Given the description of an element on the screen output the (x, y) to click on. 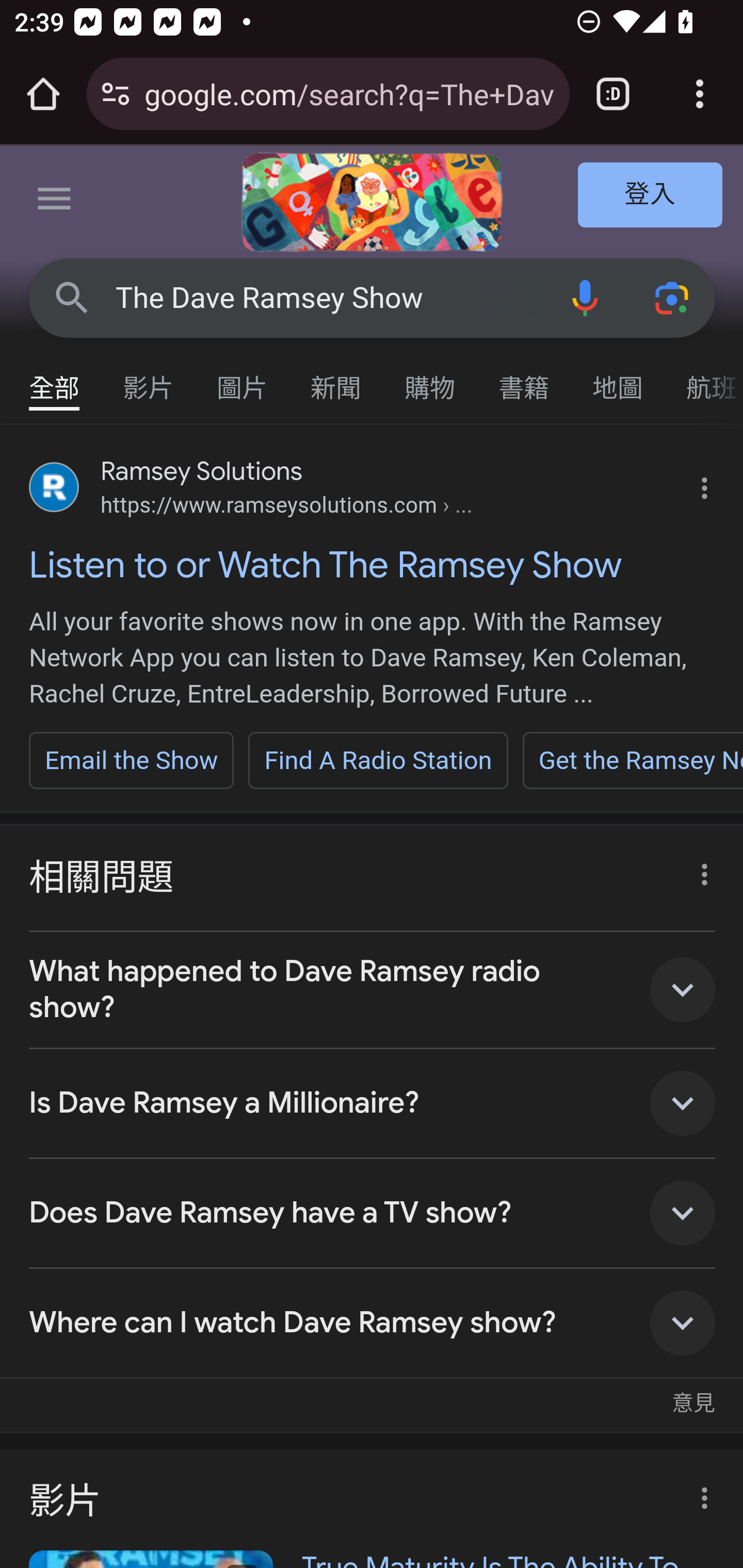
Open the home page (43, 93)
Connection is secure (115, 93)
Switch or close tabs (612, 93)
Customize and control Google Chrome (699, 93)
2024 年國際婦女節 (371, 202)
主選單 (54, 202)
登入 (650, 195)
Google 搜尋 (71, 296)
使用相機或相片搜尋 (672, 296)
The Dave Ramsey Show (328, 297)
影片 (148, 378)
圖片 (242, 378)
新聞 (336, 378)
購物 (430, 378)
書籍 (524, 378)
地圖 (618, 378)
航班 (703, 378)
Listen to or Watch The Ramsey Show (372, 564)
Email the Show (131, 760)
Find A Radio Station (377, 760)
Get the Ramsey Network App (632, 760)
關於此結果 (698, 869)
What happened to Dave Ramsey radio show? (372, 989)
Is Dave Ramsey a Millionaire? (372, 1103)
Does Dave Ramsey have a TV show? (372, 1213)
Where can I watch Dave Ramsey show? (372, 1322)
意見 (693, 1392)
關於此結果 (698, 1491)
